Given the description of an element on the screen output the (x, y) to click on. 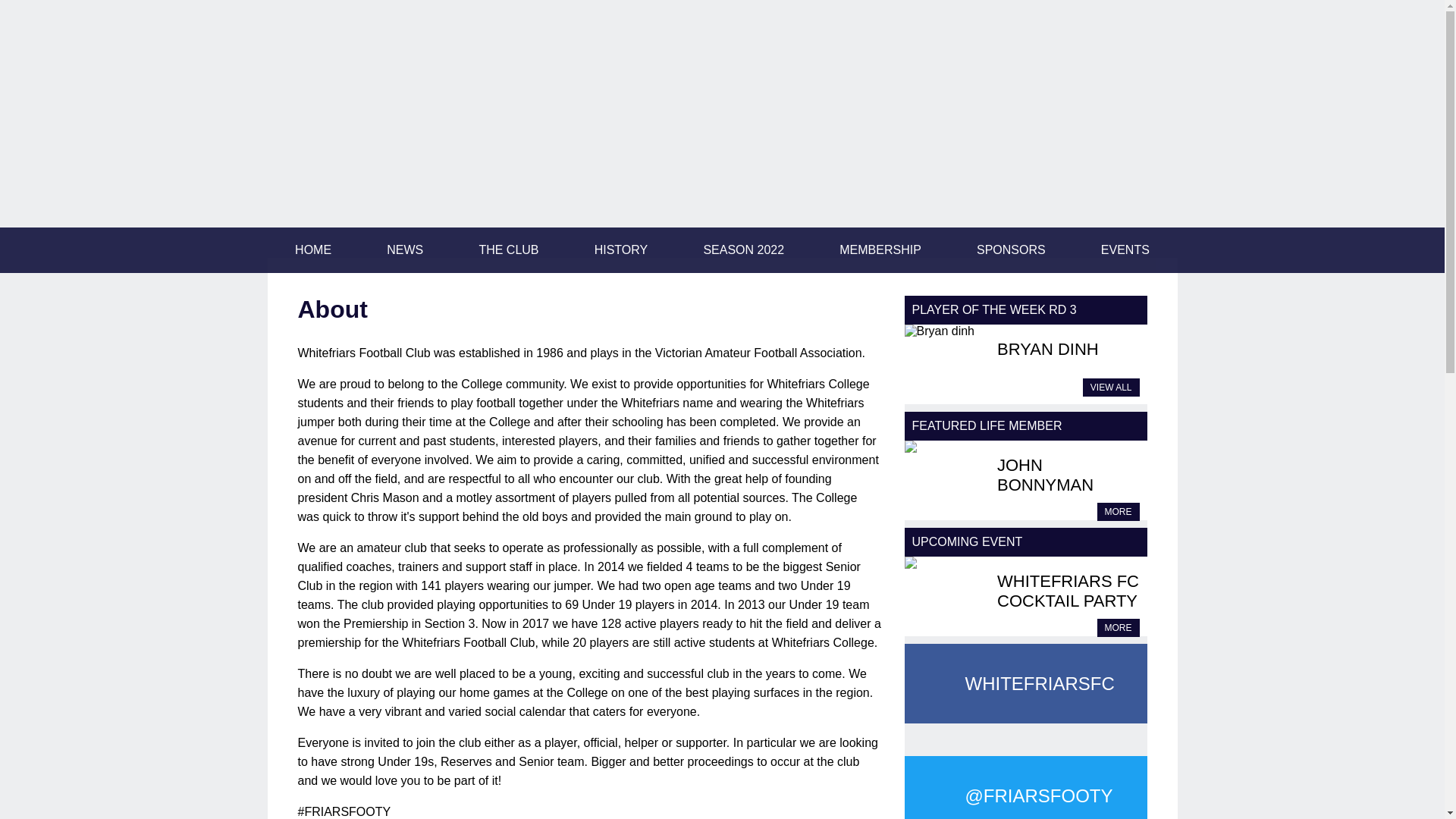
EVENTS (1125, 249)
MORE (1117, 628)
NEWS (405, 249)
WHITEFRIARSFC (1025, 683)
HOME (313, 249)
MEMBERSHIP (880, 249)
MORE (1117, 511)
VIEW ALL (1111, 387)
